Given the description of an element on the screen output the (x, y) to click on. 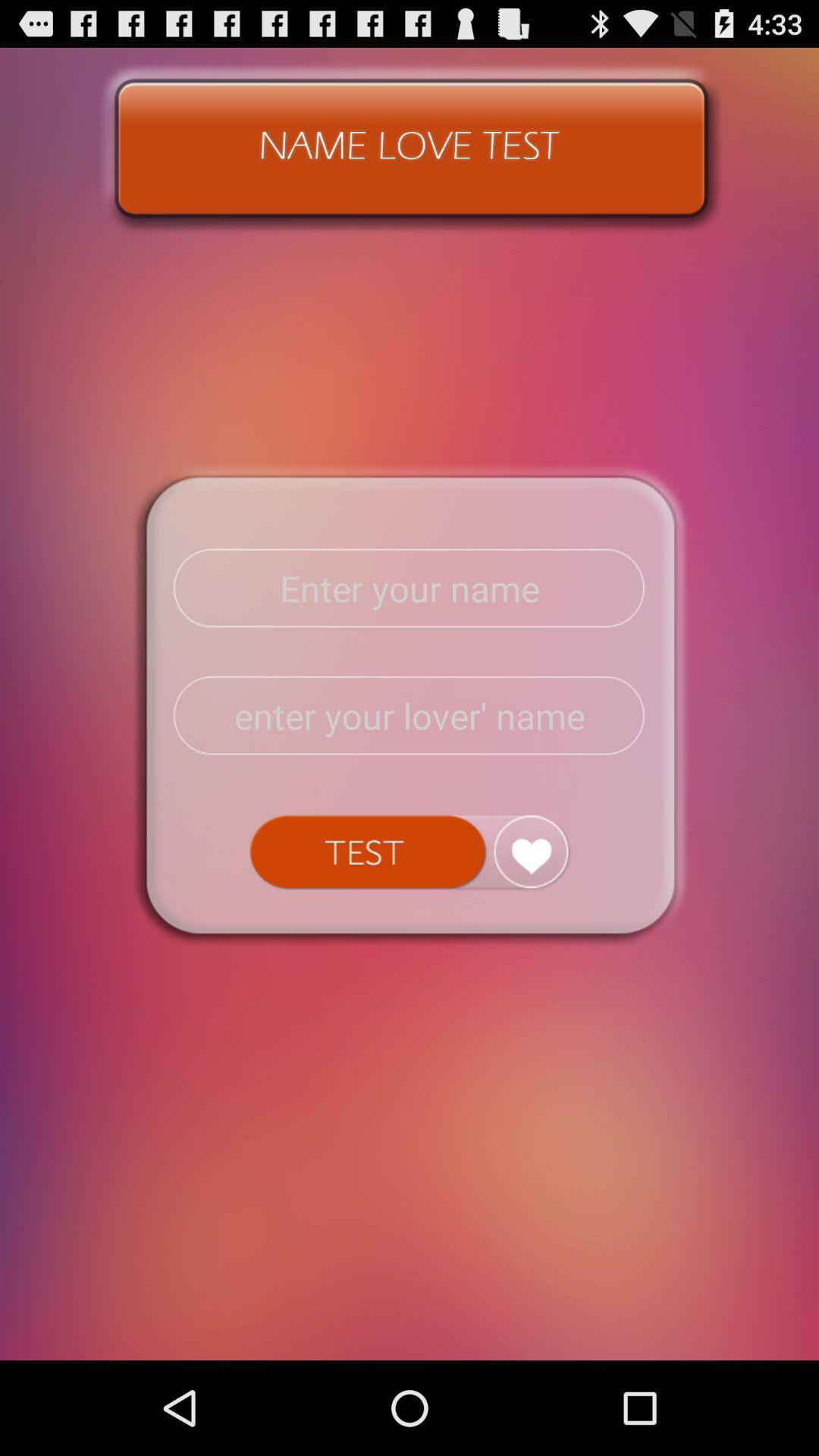
submit button (408, 851)
